Given the description of an element on the screen output the (x, y) to click on. 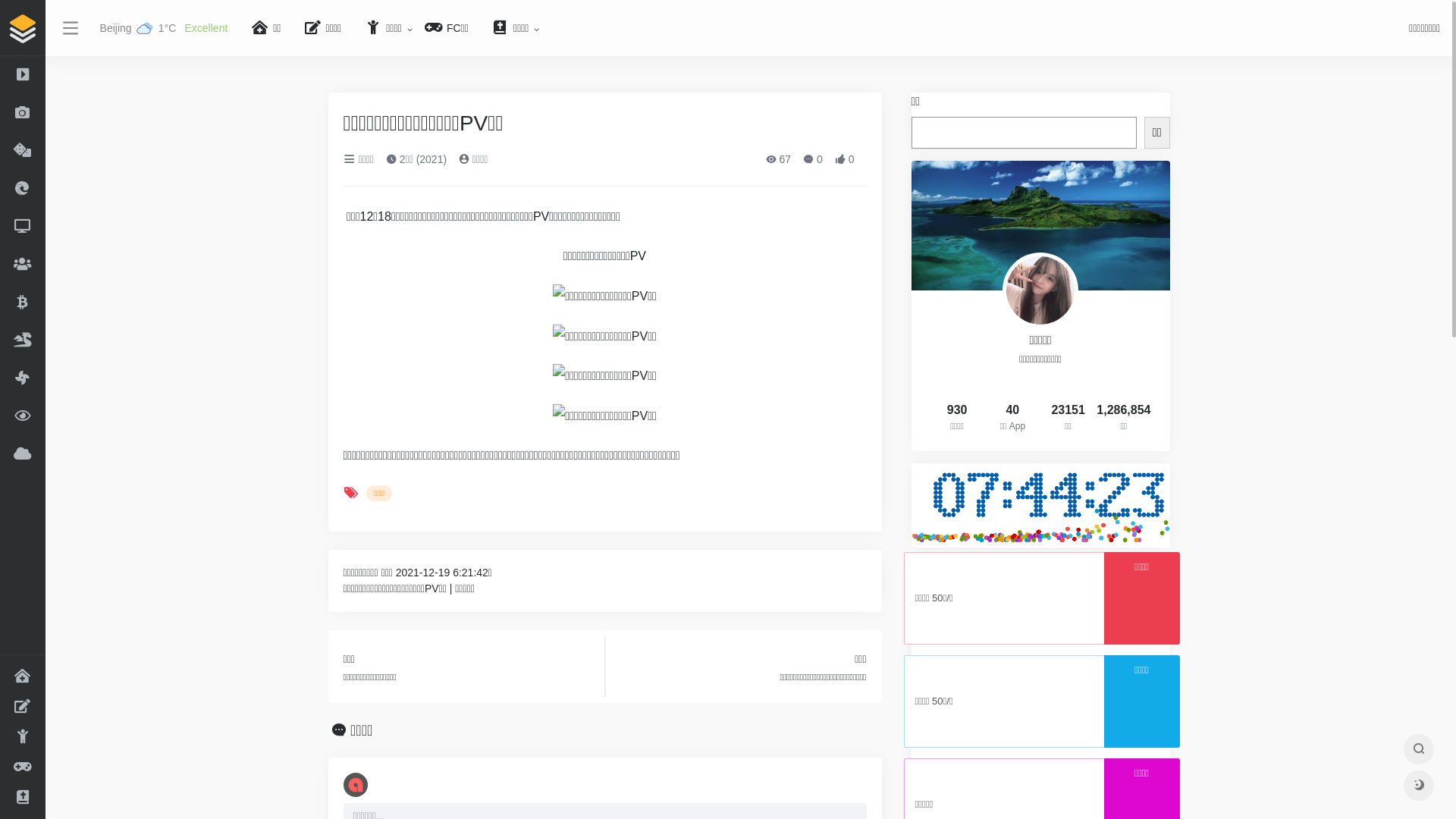
0 Element type: text (844, 159)
0 Element type: text (812, 159)
